Given the description of an element on the screen output the (x, y) to click on. 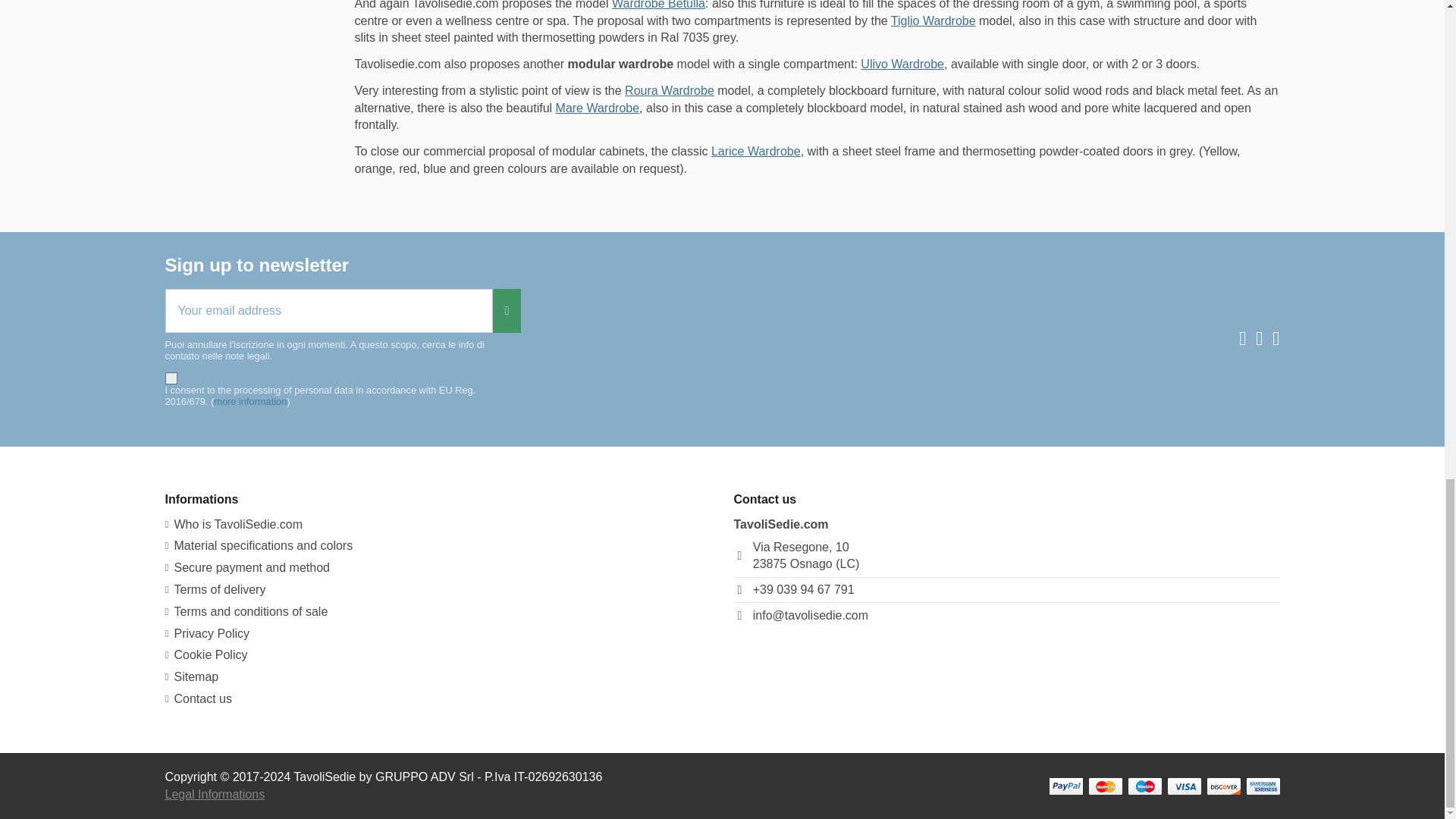
Our secure payment method (247, 567)
Privacy (207, 633)
Are you lost? Find what you're looking for (192, 677)
Use our contact form for any inquiry (198, 699)
Our terms and conditionsi (215, 589)
Our terms and conditions (247, 611)
